Given the description of an element on the screen output the (x, y) to click on. 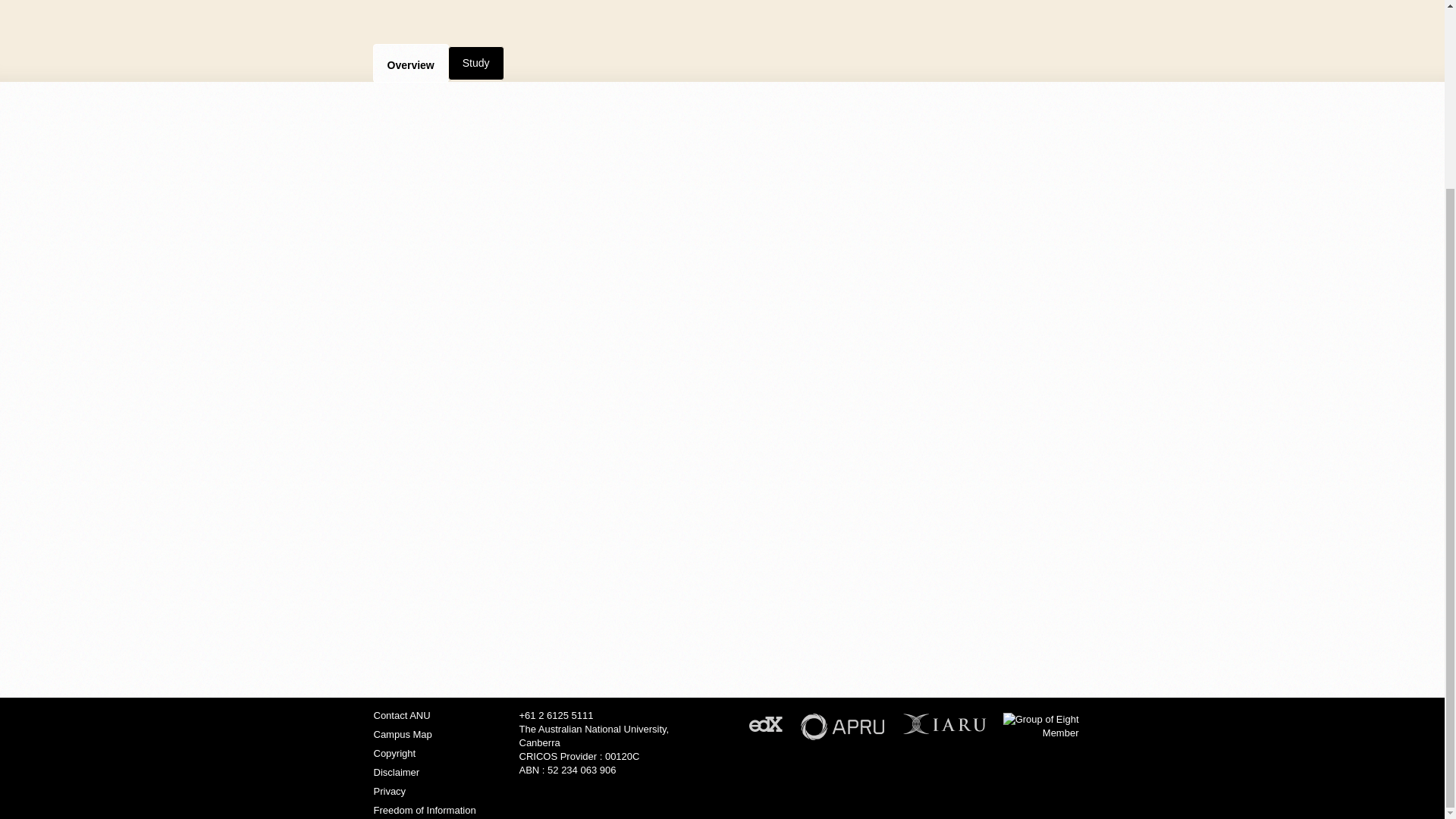
Study (475, 62)
Overview (410, 62)
